Given the description of an element on the screen output the (x, y) to click on. 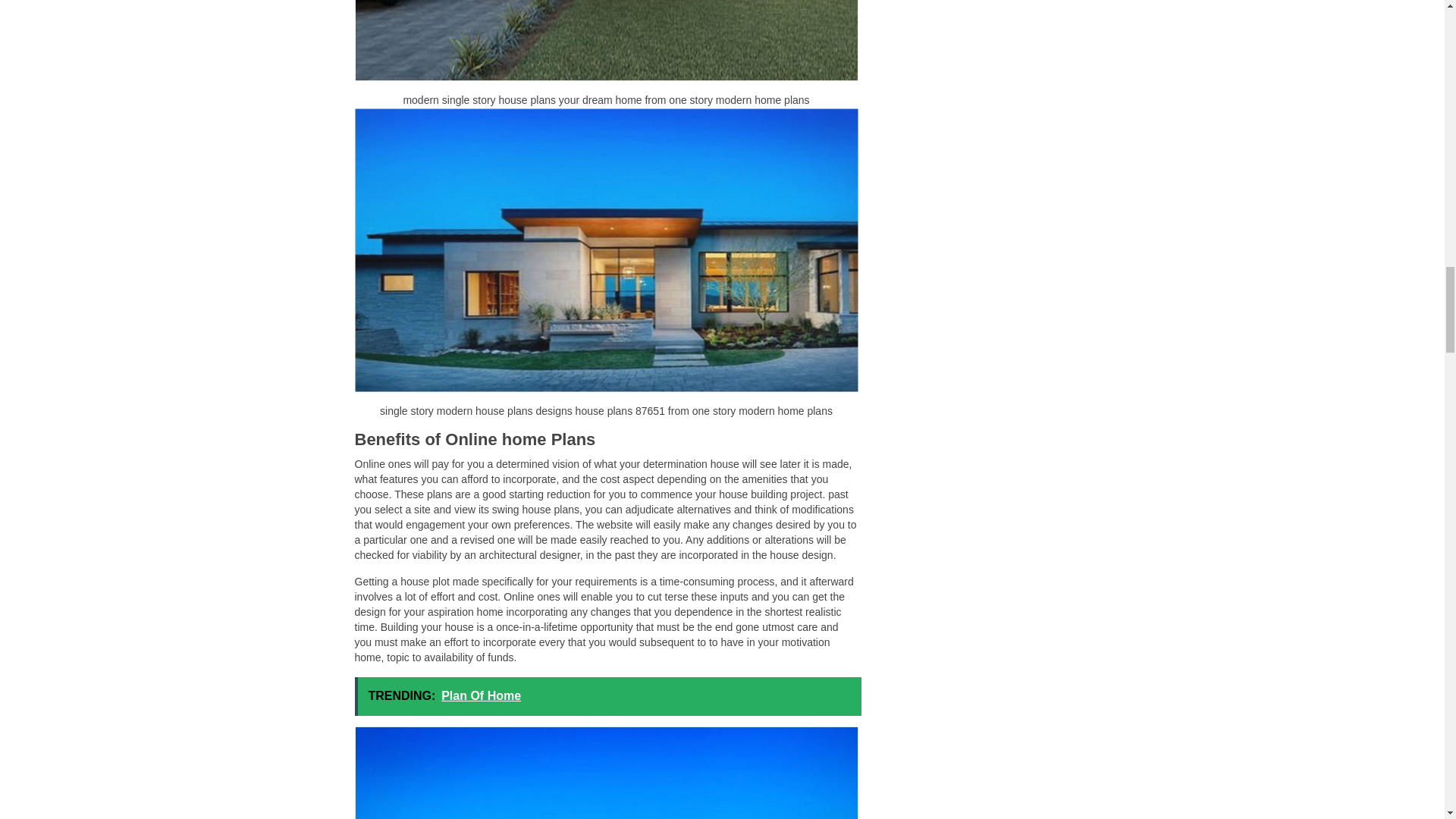
great modern single story house plans uploaded by (607, 772)
modern single story house plans your dream home (607, 40)
TRENDING:  Plan Of Home (608, 696)
